Given the description of an element on the screen output the (x, y) to click on. 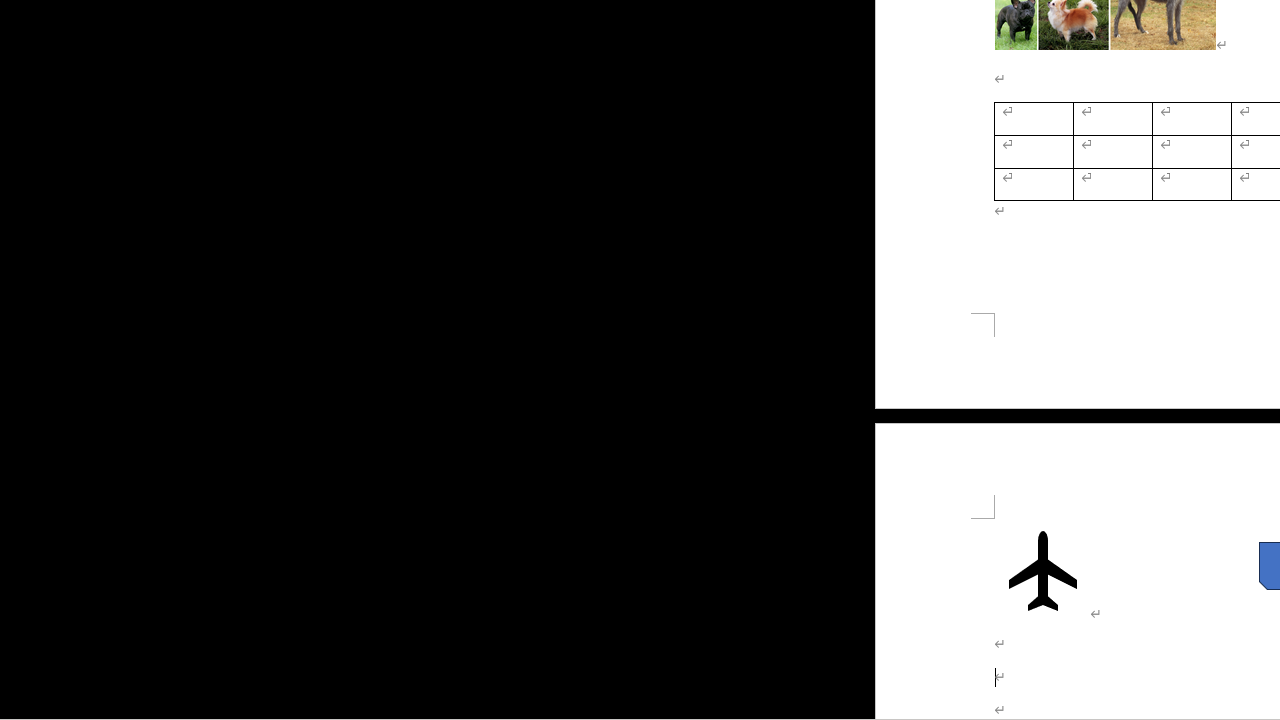
Airplane with solid fill (1042, 570)
